Given the description of an element on the screen output the (x, y) to click on. 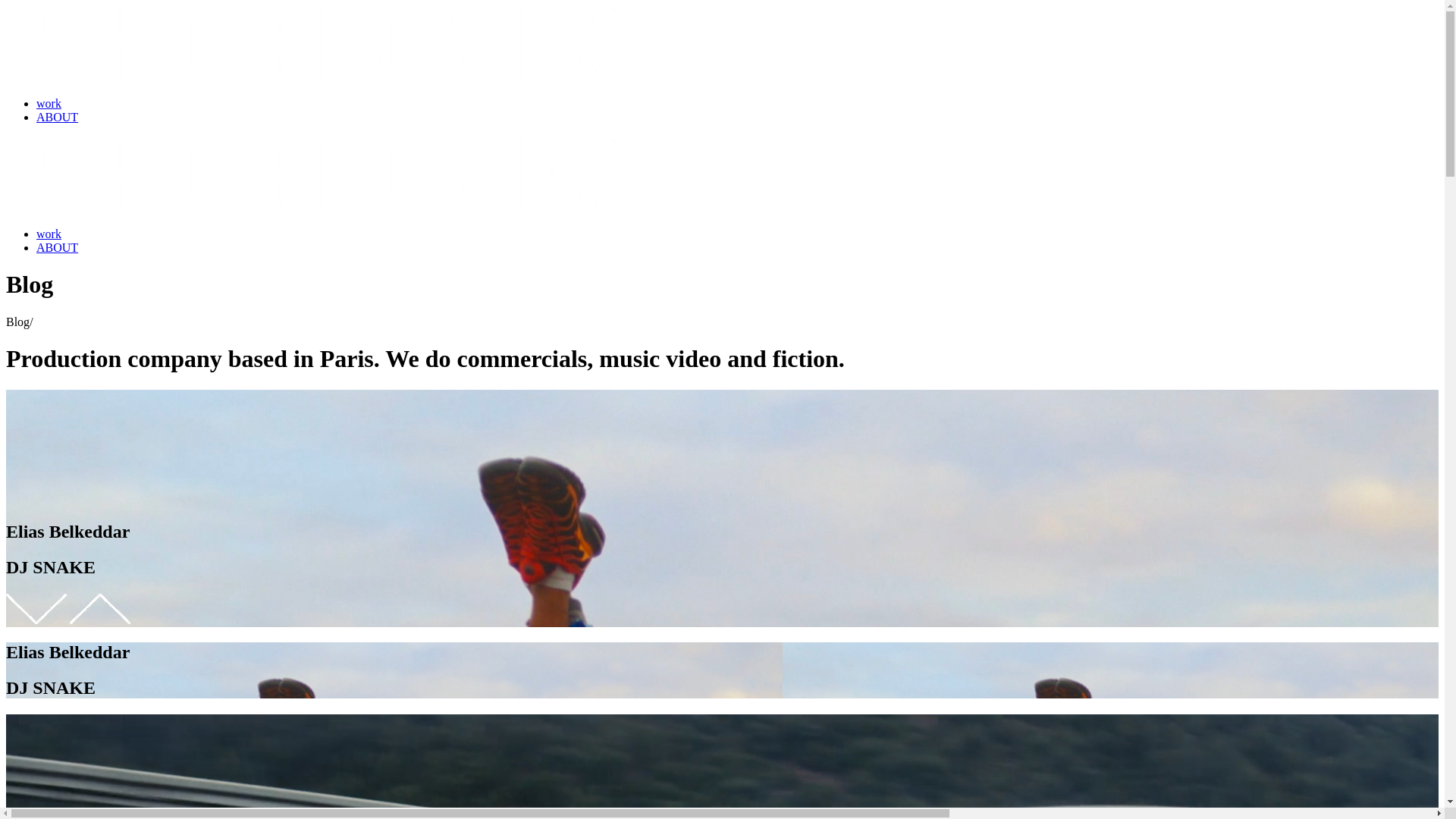
ABOUT Element type: text (57, 247)
work Element type: text (48, 233)
work Element type: text (48, 103)
ABOUT Element type: text (57, 116)
